Given the description of an element on the screen output the (x, y) to click on. 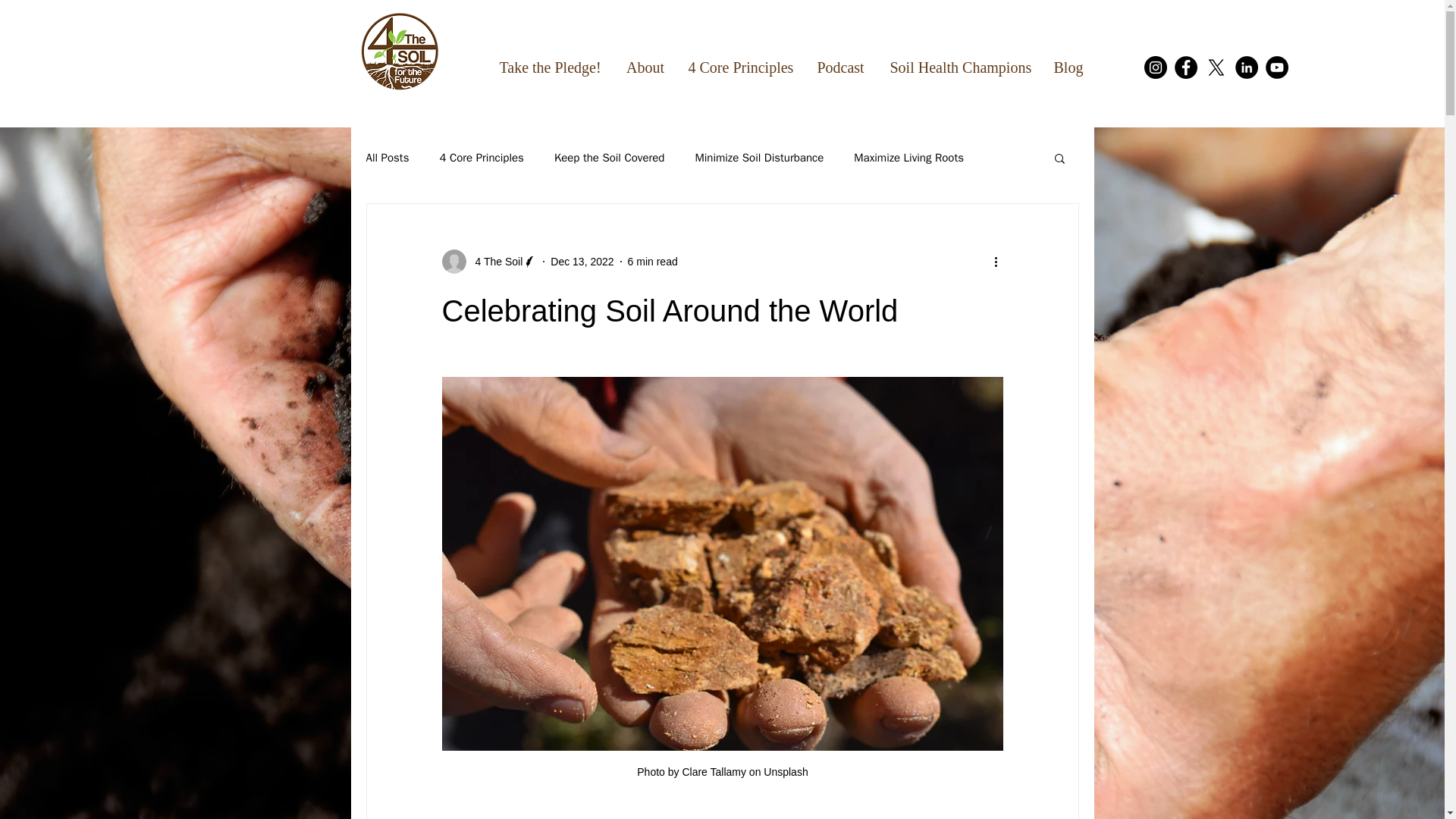
Dec 13, 2022 (581, 260)
Minimize Soil Disturbance (759, 156)
Take the Pledge! (550, 67)
Maximize Living Roots (908, 156)
Soil Health Champions (959, 67)
4 Core Principles (480, 156)
Podcast (839, 67)
Blog (1067, 67)
All Posts (387, 156)
4 The Soil (493, 261)
Keep the Soil Covered (609, 156)
About (645, 67)
6 min read (652, 260)
4 Core Principles (739, 67)
